Given the description of an element on the screen output the (x, y) to click on. 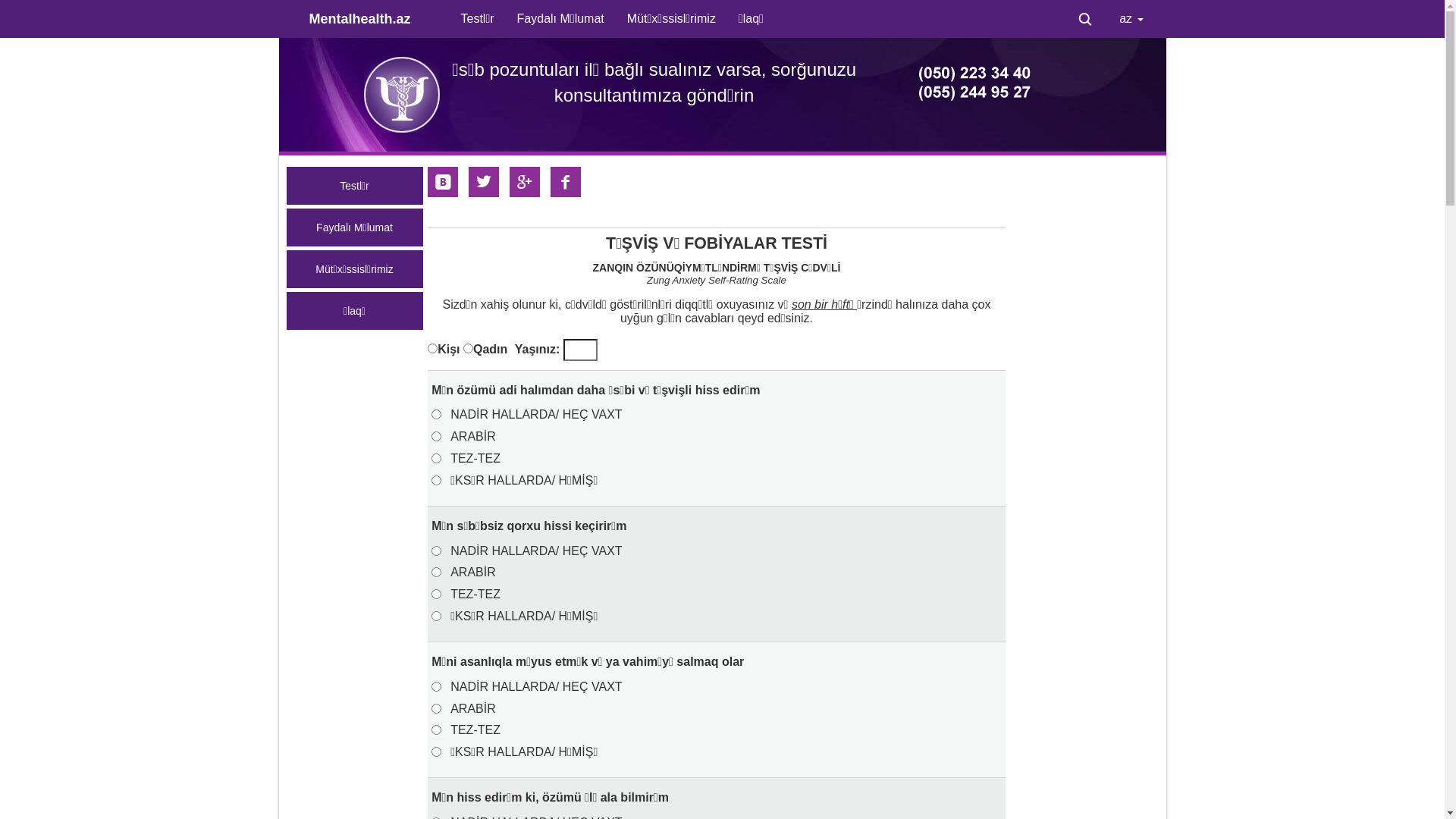
az Element type: text (1130, 18)
Mentalhealth.az Element type: text (372, 18)
